Given the description of an element on the screen output the (x, y) to click on. 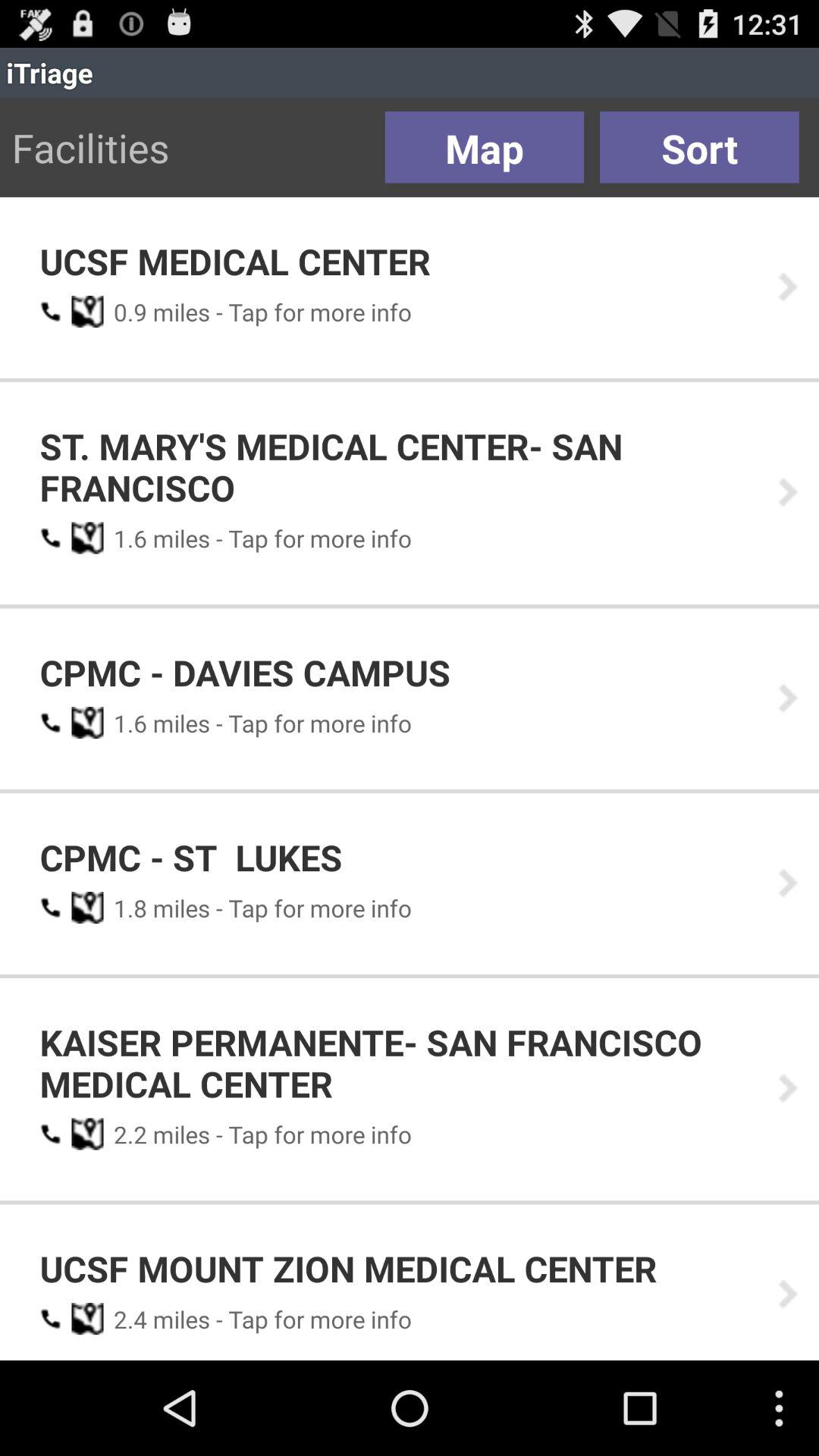
click the kaiser permanente san icon (398, 1062)
